Given the description of an element on the screen output the (x, y) to click on. 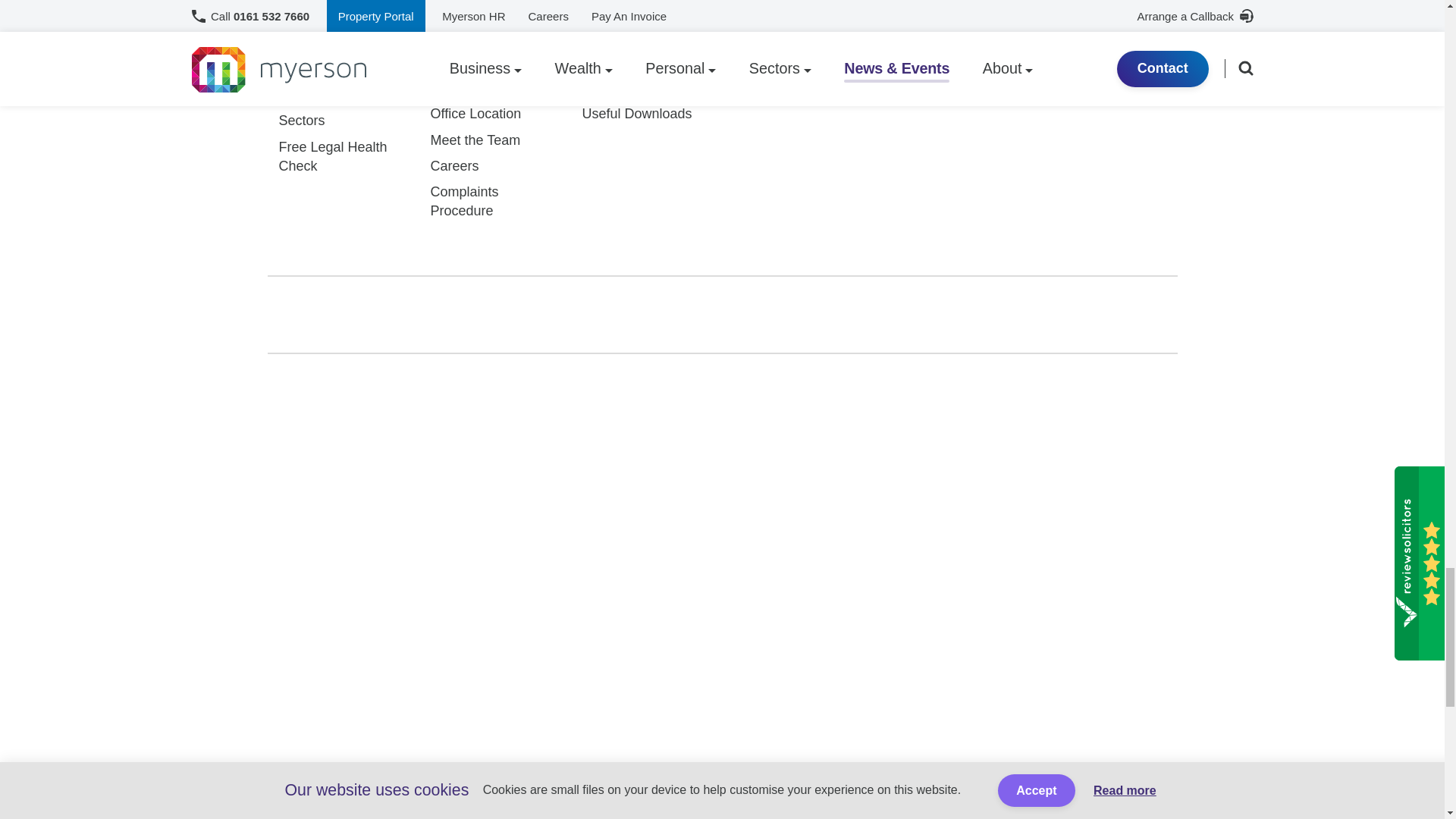
Myerson Solicitors LLP on YouTube (842, 314)
Myerson Solicitors LLP on LinkedIn (720, 314)
Myerson Solicitors LLP on Instagram (780, 314)
Business (306, 43)
Myerson Solicitors LLP on Twitter (599, 314)
Myerson Solicitors LLP on Facebook (659, 314)
